Given the description of an element on the screen output the (x, y) to click on. 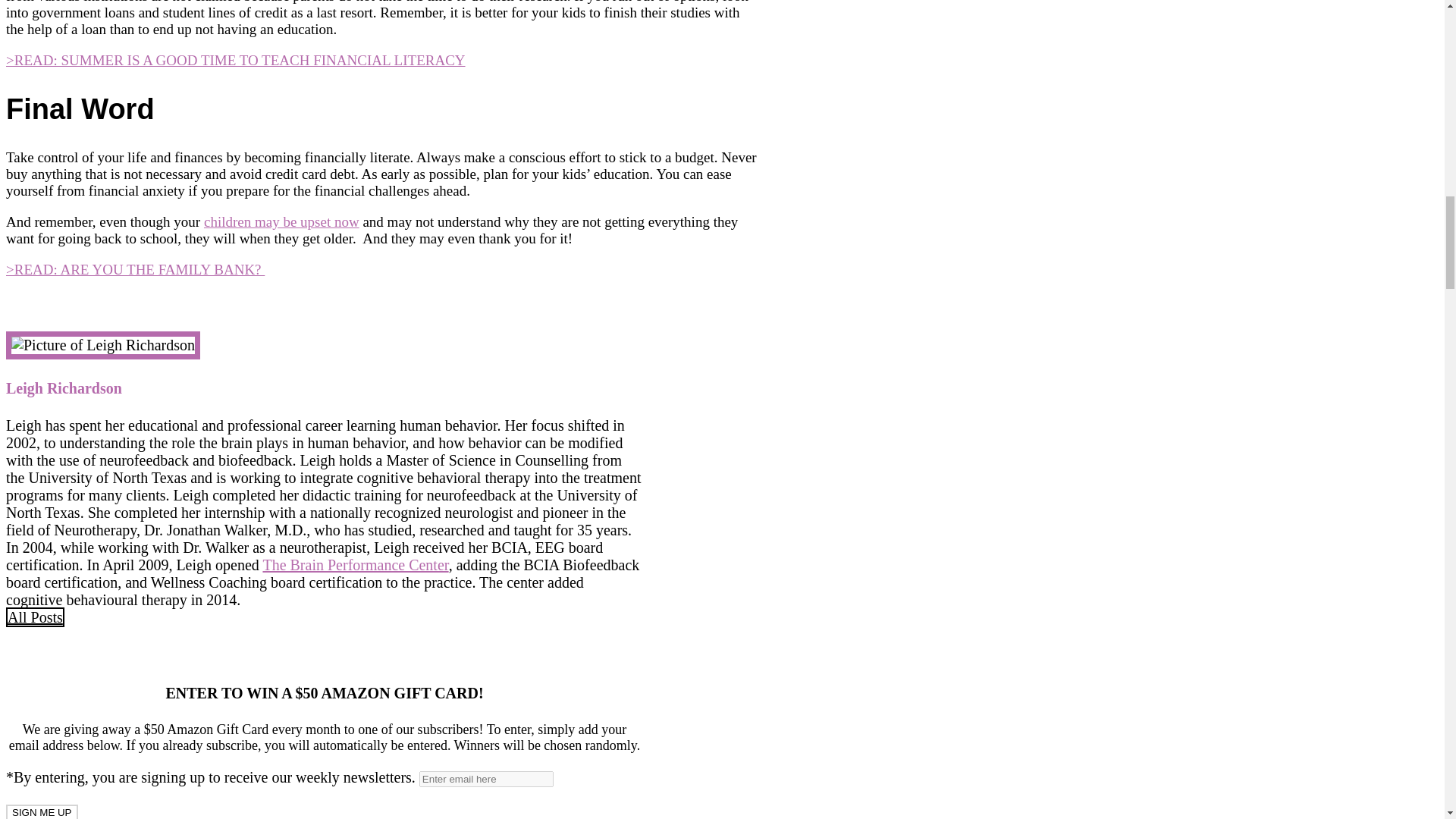
children may be upset now (281, 221)
The Brain Performance Center (355, 564)
SIGN ME UP (41, 811)
All Posts (34, 617)
SIGN ME UP (41, 811)
